Given the description of an element on the screen output the (x, y) to click on. 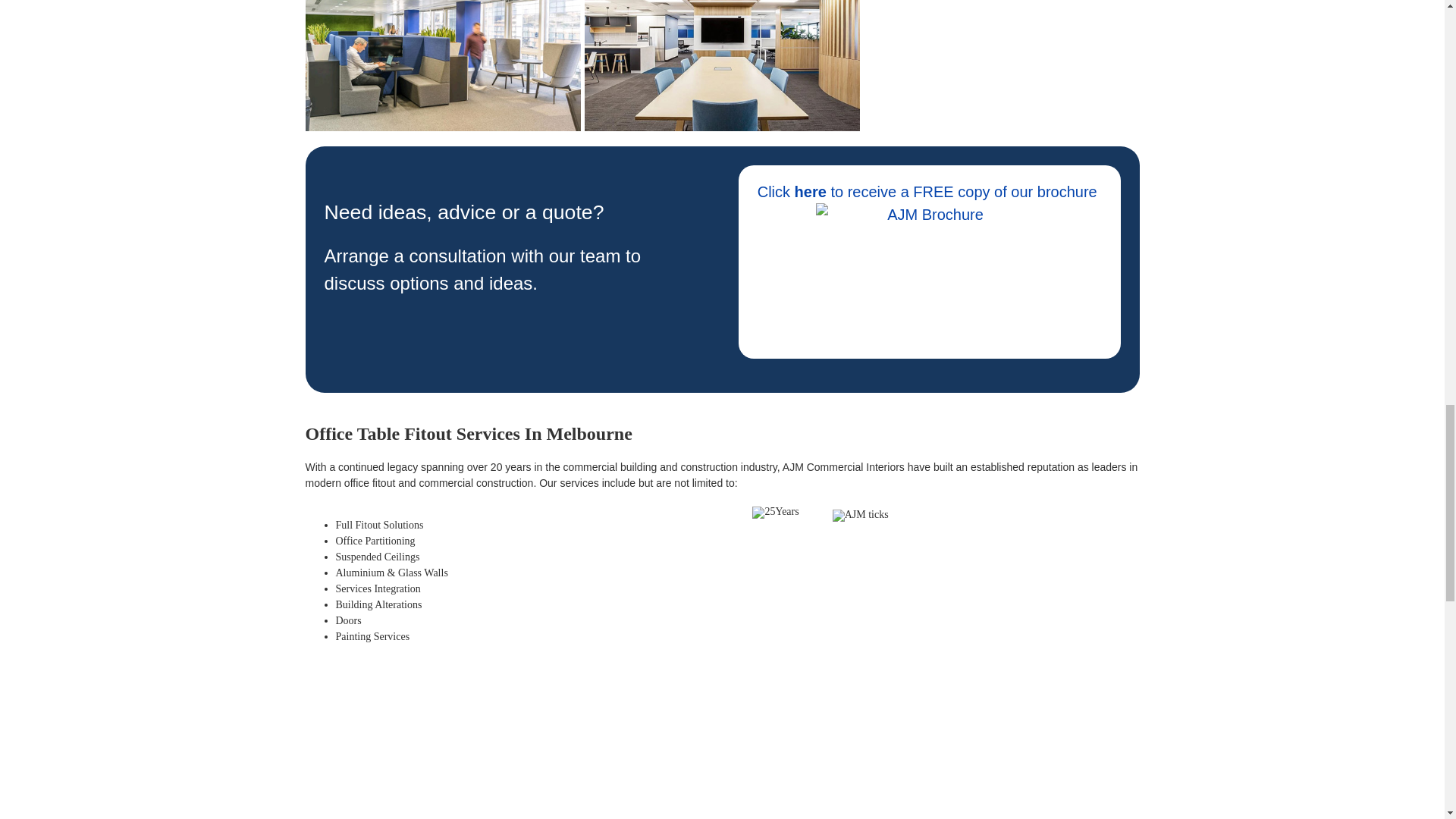
Click here to receive a FREE copy of our brochure  (929, 191)
city-fitout-1 (441, 65)
city-fitout-2 (722, 65)
25Years (774, 512)
AJM ticks (860, 515)
